Given the description of an element on the screen output the (x, y) to click on. 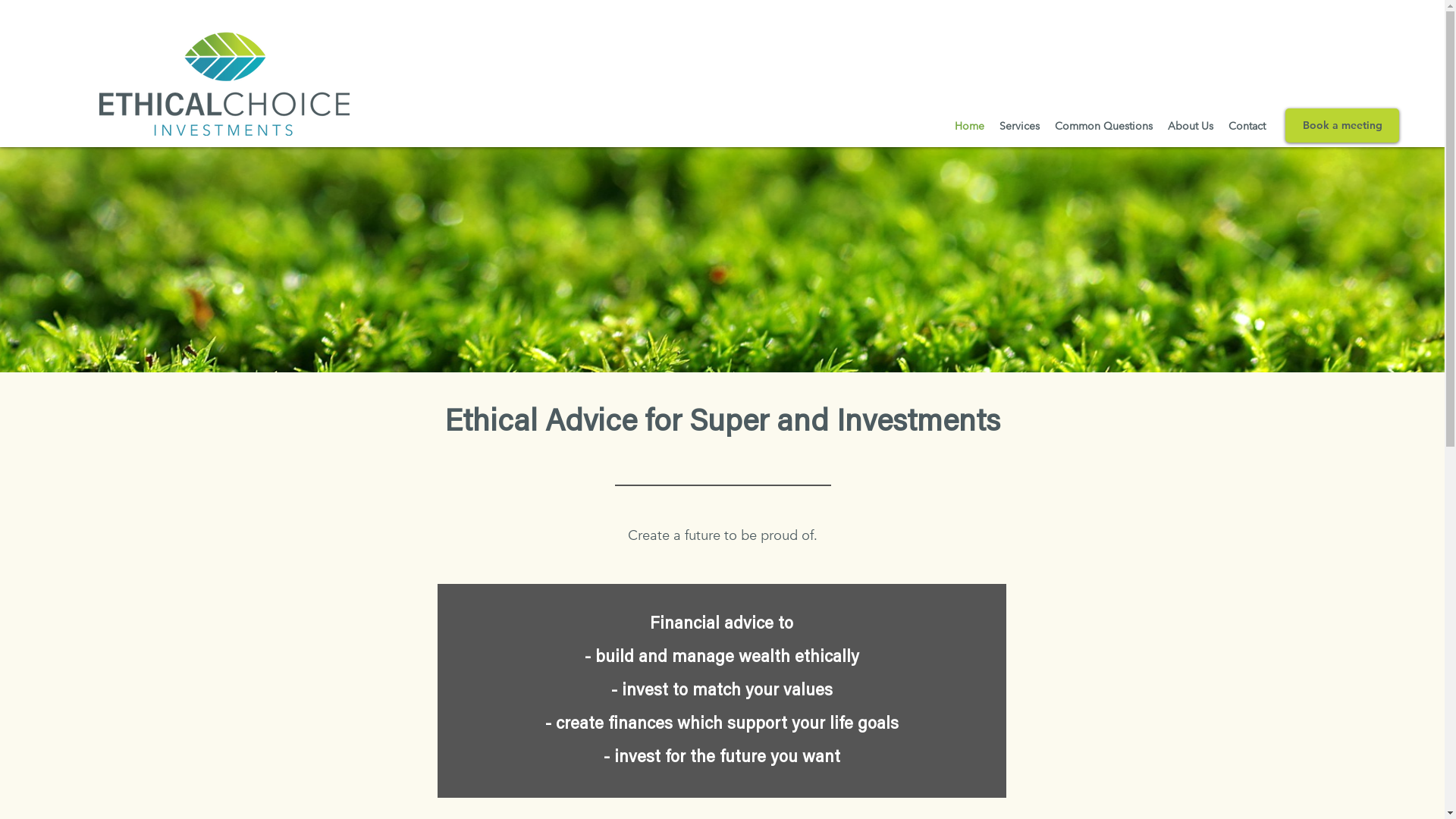
Book a meeting Element type: text (1342, 125)
Common Questions Element type: text (1103, 125)
Ethical Choice Investments Element type: hover (224, 82)
Home Element type: text (969, 125)
Contact Element type: text (1246, 125)
Services Element type: text (1019, 125)
About Us Element type: text (1190, 125)
